Given the description of an element on the screen output the (x, y) to click on. 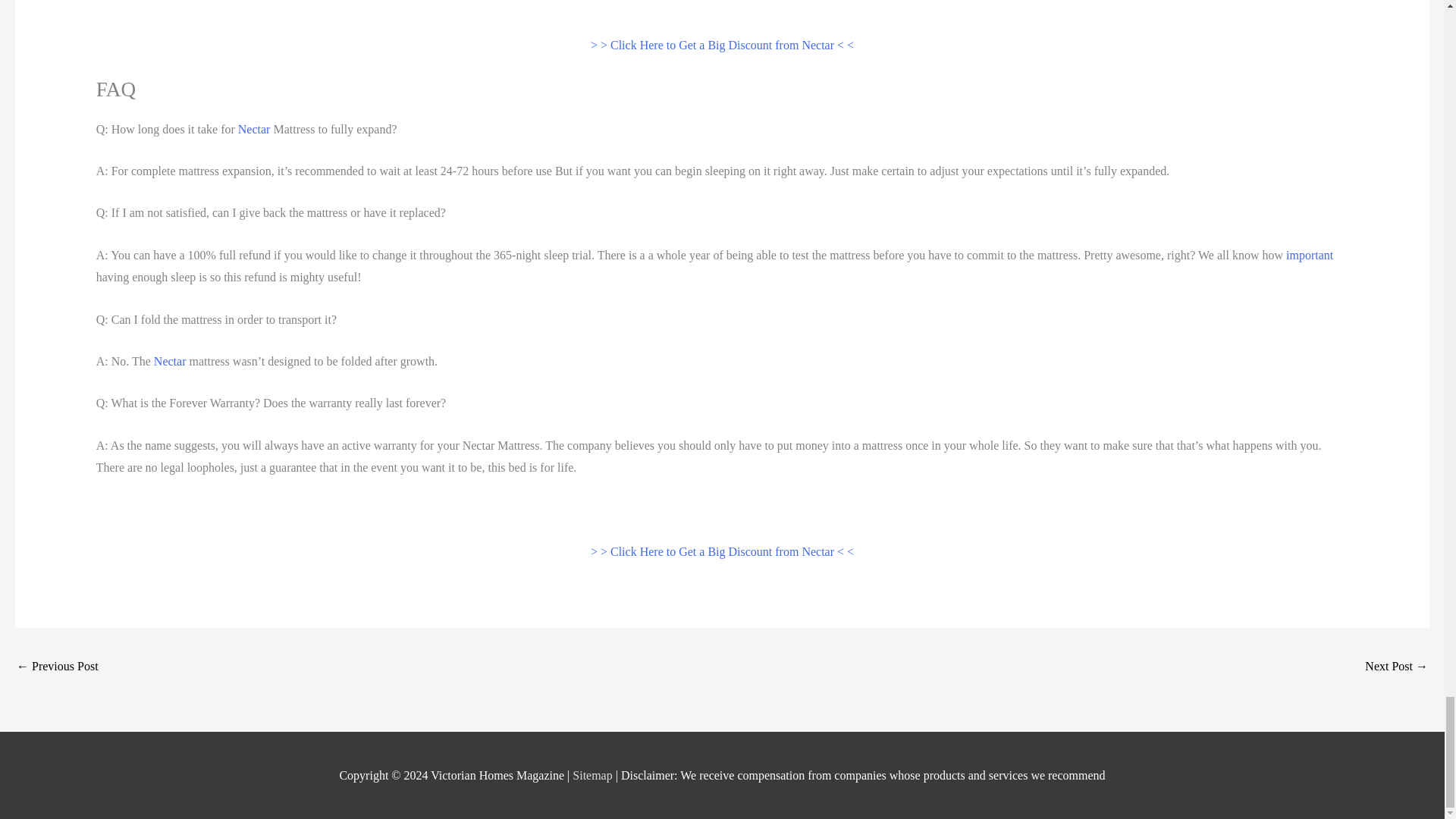
Nectar (170, 360)
important (1309, 254)
Nectar (254, 128)
Sitemap (593, 775)
Nectar Bed Frame Dimensions (57, 667)
